Given the description of an element on the screen output the (x, y) to click on. 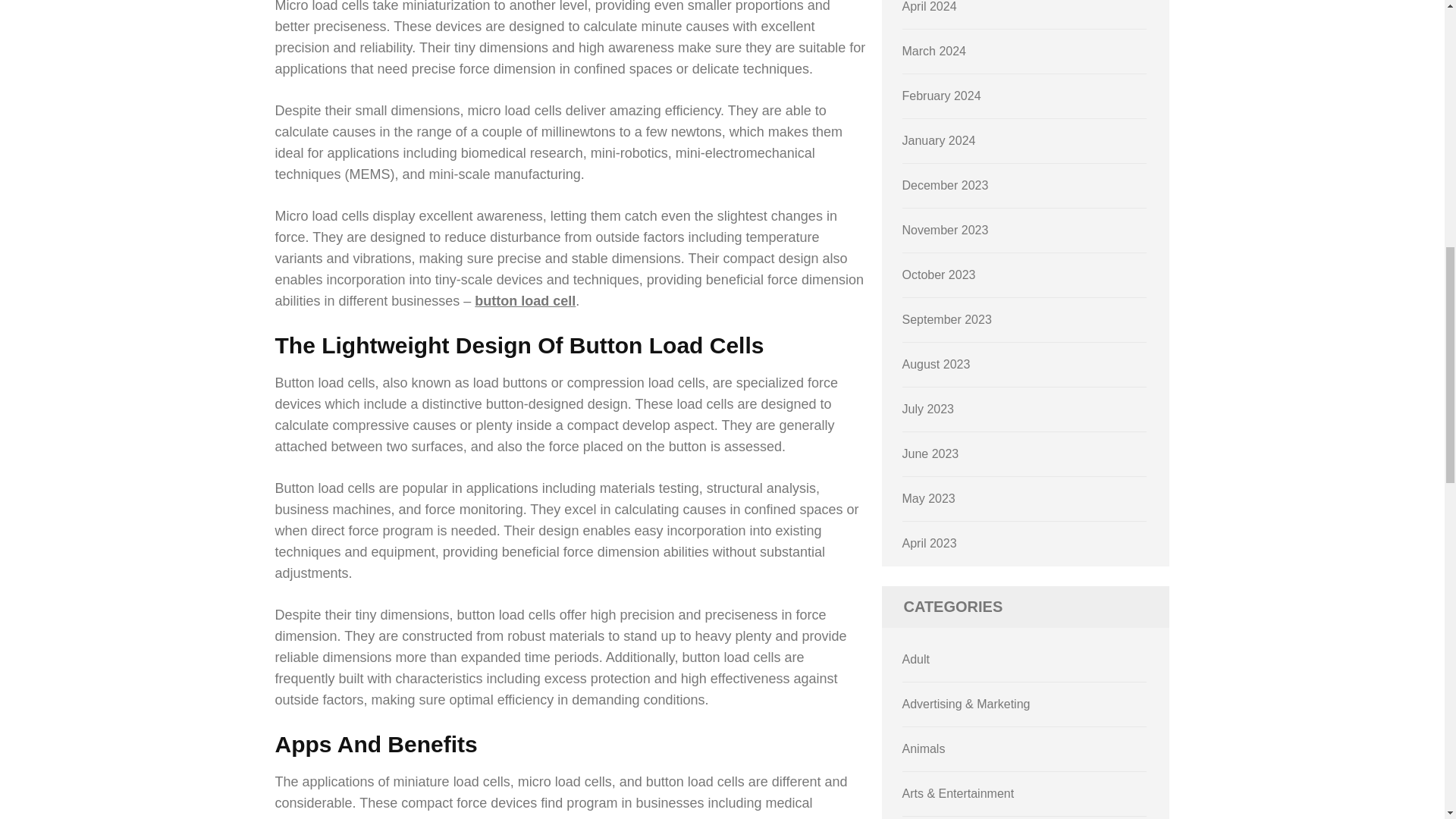
Adult (916, 658)
February 2024 (941, 95)
October 2023 (938, 274)
August 2023 (936, 364)
March 2024 (934, 51)
May 2023 (928, 498)
November 2023 (945, 229)
September 2023 (946, 318)
April 2024 (929, 6)
July 2023 (928, 408)
December 2023 (945, 185)
April 2023 (929, 543)
January 2024 (938, 140)
button load cell (524, 300)
June 2023 (930, 453)
